Given the description of an element on the screen output the (x, y) to click on. 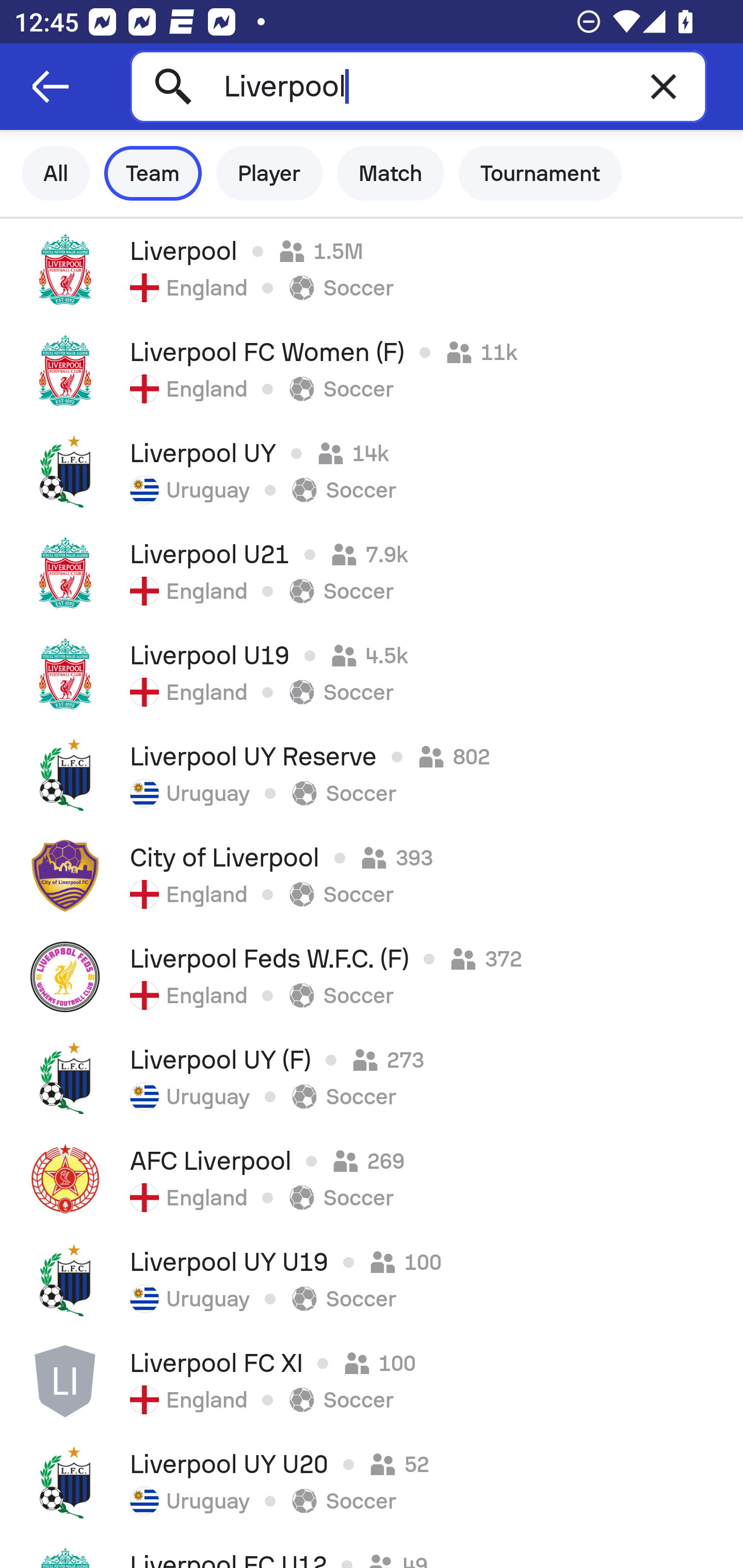
Navigate up (50, 86)
Liverpool (418, 86)
Clear text (663, 86)
All (55, 172)
Team (152, 172)
Player (268, 172)
Match (390, 172)
Tournament (540, 172)
Liverpool 1.5M England Soccer (371, 268)
Liverpool FC Women (F) 11k England Soccer (371, 369)
Liverpool UY 14k Uruguay Soccer (371, 471)
Liverpool U21 7.9k England Soccer (371, 572)
Liverpool U19 4.5k England Soccer (371, 673)
Liverpool UY Reserve 802 Uruguay Soccer (371, 774)
City of Liverpool 393 England Soccer (371, 875)
Liverpool Feds W.F.C. (F) 372 England Soccer (371, 976)
Liverpool UY (F) 273 Uruguay Soccer (371, 1077)
AFC Liverpool 269 England Soccer (371, 1178)
Liverpool UY U19 100 Uruguay Soccer (371, 1280)
Liverpool FC XI 100 England Soccer (371, 1381)
Liverpool UY U20 52 Uruguay Soccer (371, 1482)
